Given the description of an element on the screen output the (x, y) to click on. 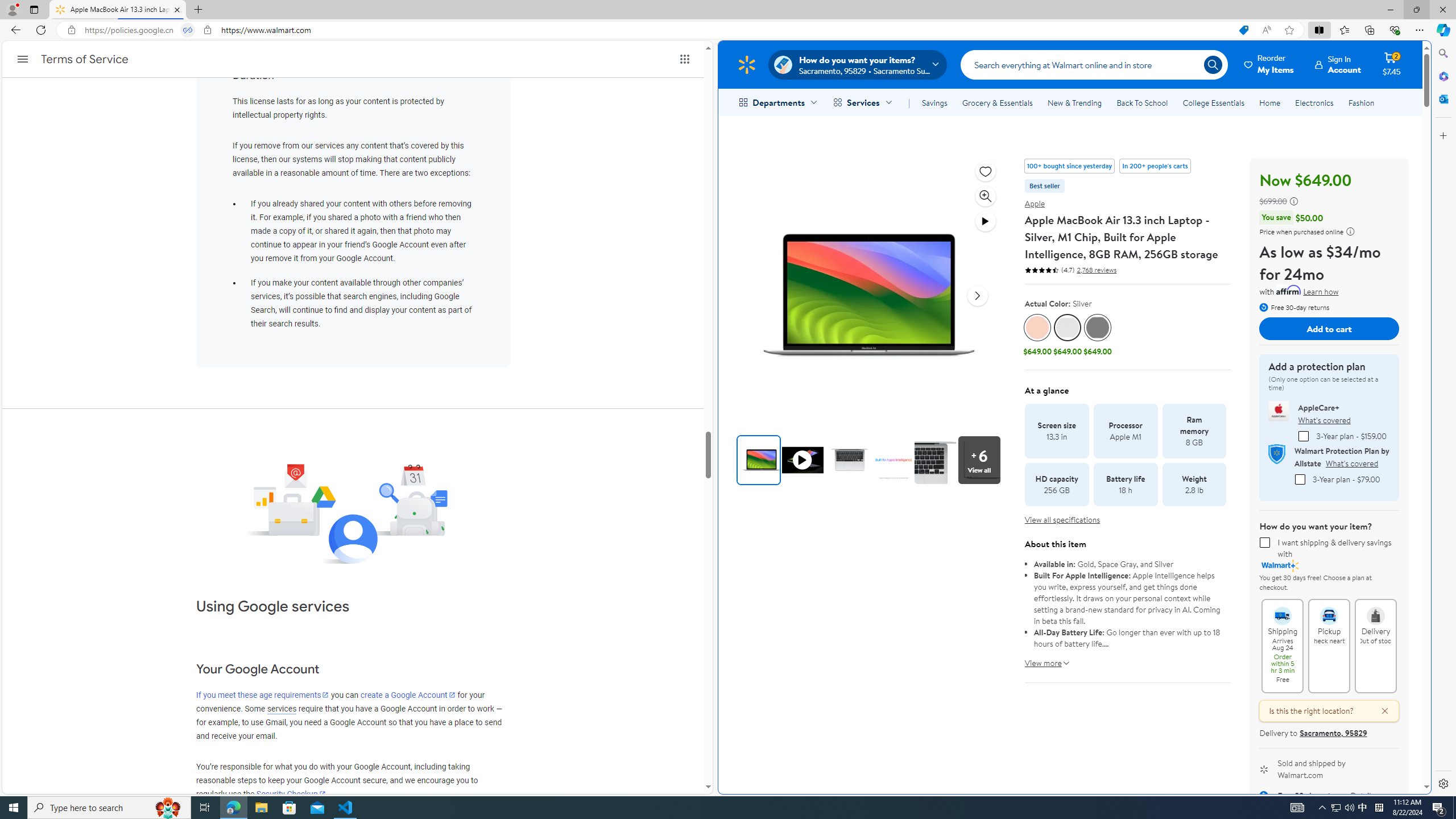
College Essentials (1213, 102)
Space Gray, $649.00 (1096, 335)
Details of Return policy (1361, 795)
Tabs in split screen (187, 29)
What's covered of AppleCare+ (1324, 420)
Walmart plus (1280, 565)
Savings (933, 102)
Back To School (1141, 102)
